Given the description of an element on the screen output the (x, y) to click on. 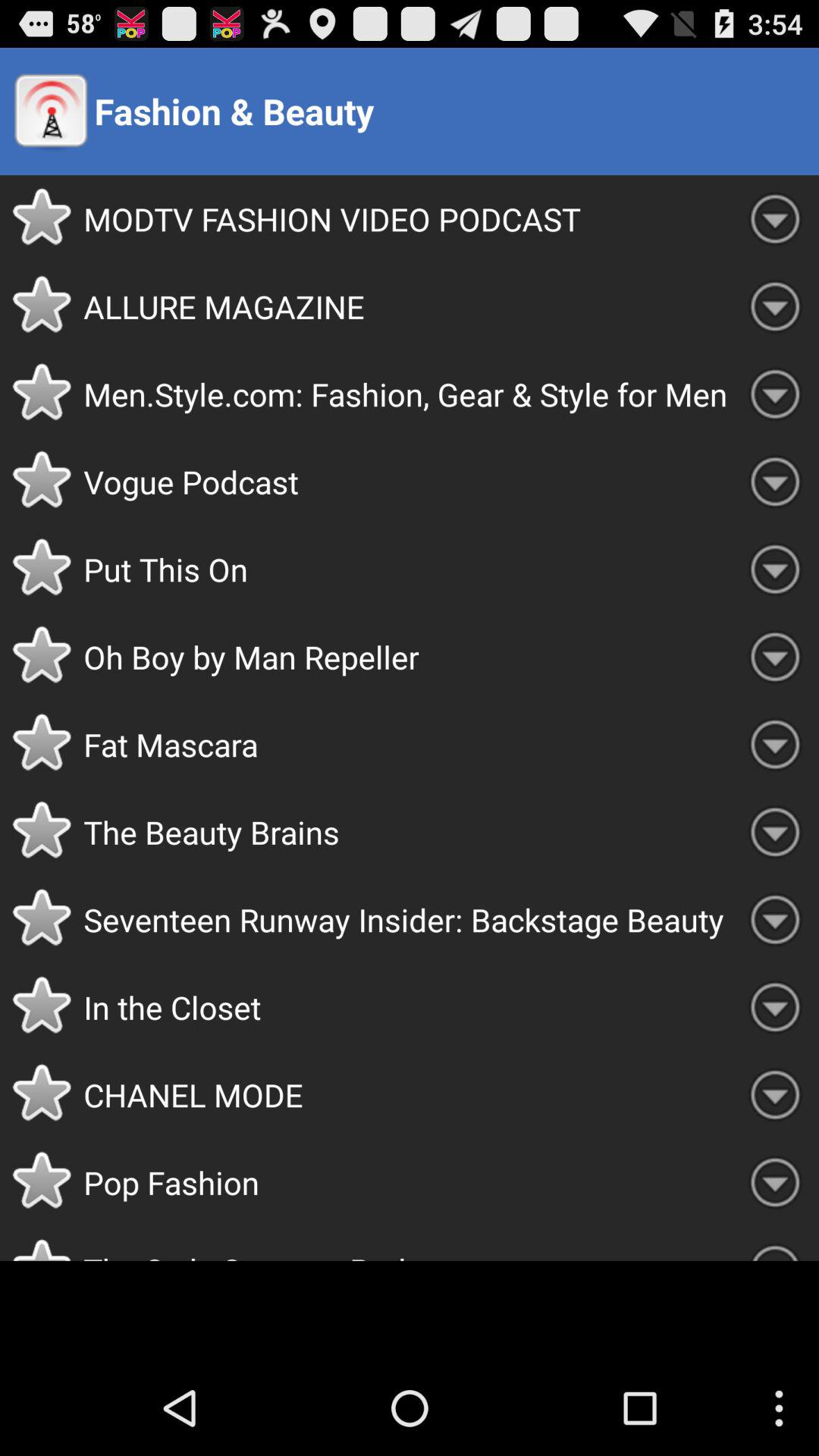
flip to modtv fashion video item (407, 218)
